Given the description of an element on the screen output the (x, y) to click on. 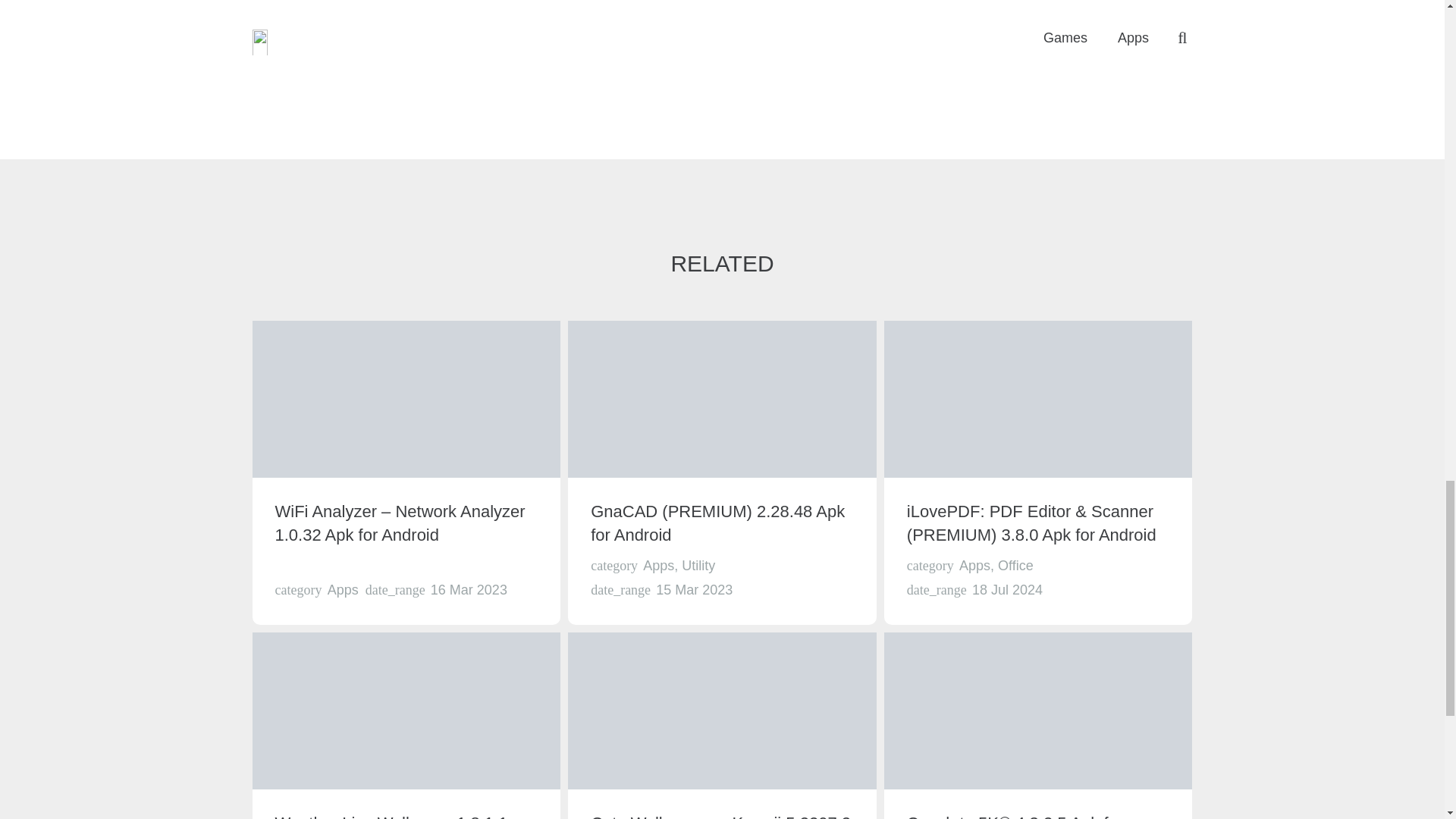
WiFi Analyzer - Network Analyzer 1.0.32 Apk for Android 14 (405, 399)
